Given the description of an element on the screen output the (x, y) to click on. 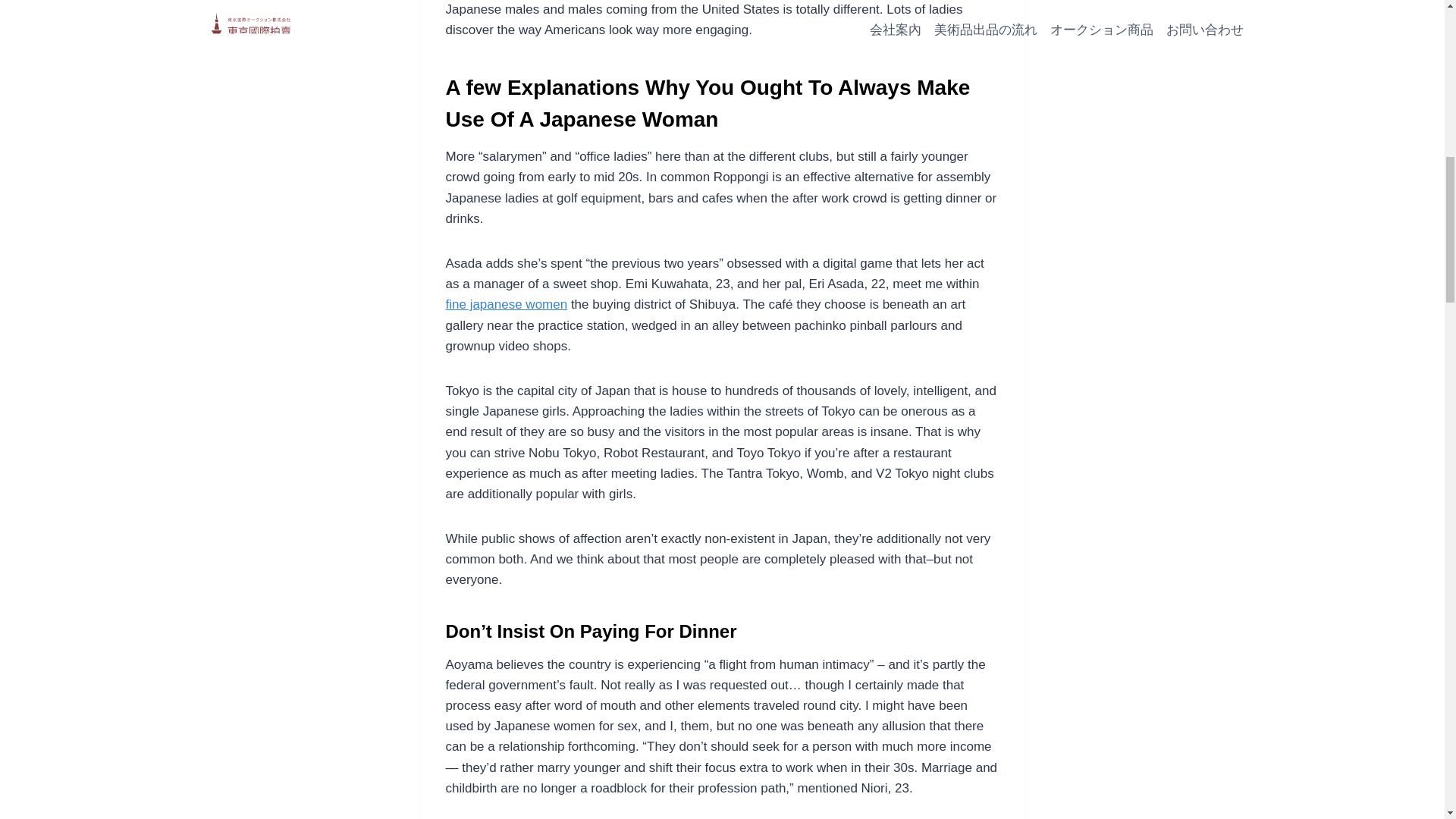
fine japanese women (506, 304)
